Given the description of an element on the screen output the (x, y) to click on. 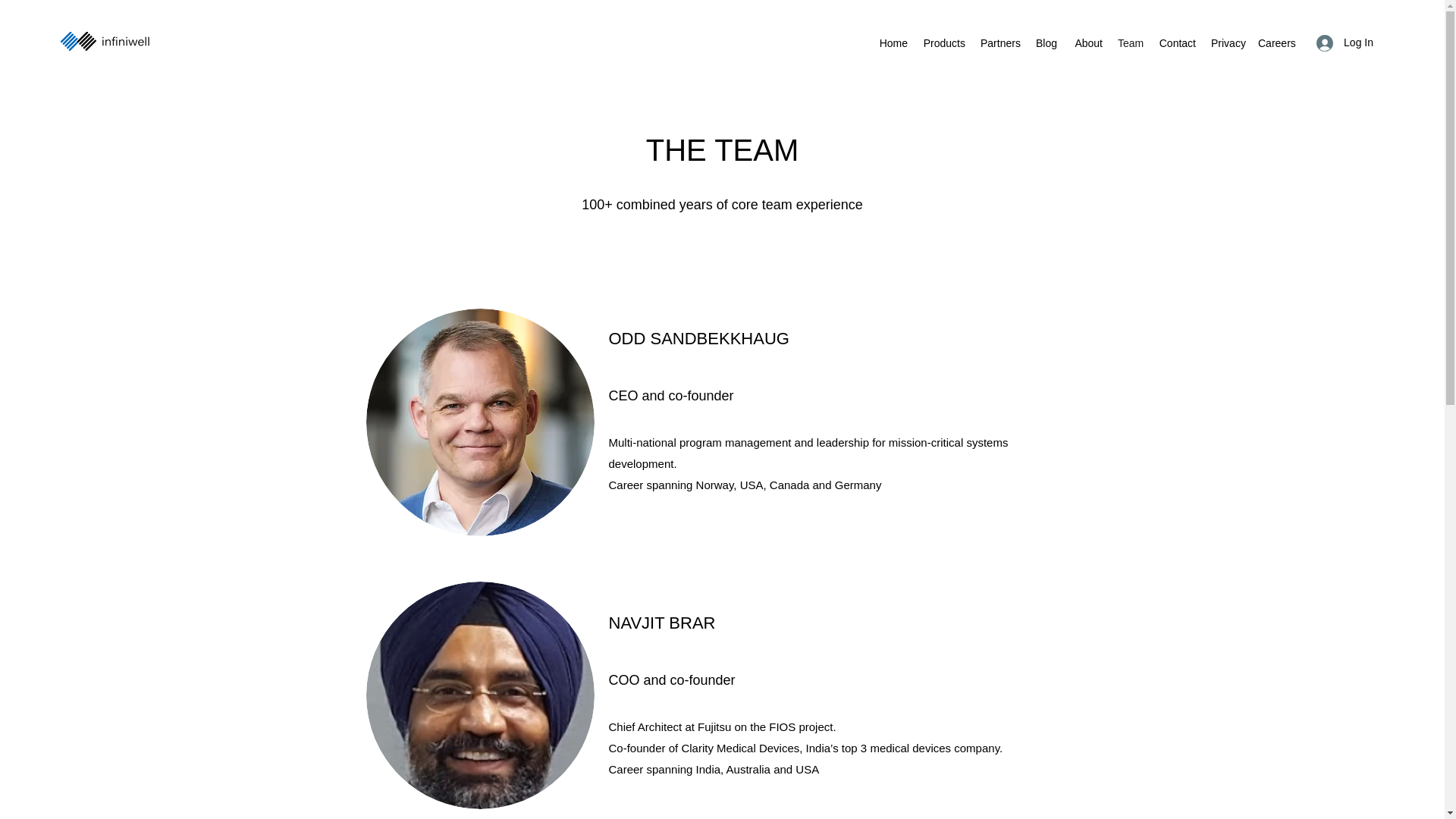
Careers (1276, 42)
Blog (1045, 42)
Home (892, 42)
Partners (999, 42)
Products (943, 42)
Log In (1345, 42)
About (1086, 42)
Team (1129, 42)
Privacy (1227, 42)
Contact (1177, 42)
